Given the description of an element on the screen output the (x, y) to click on. 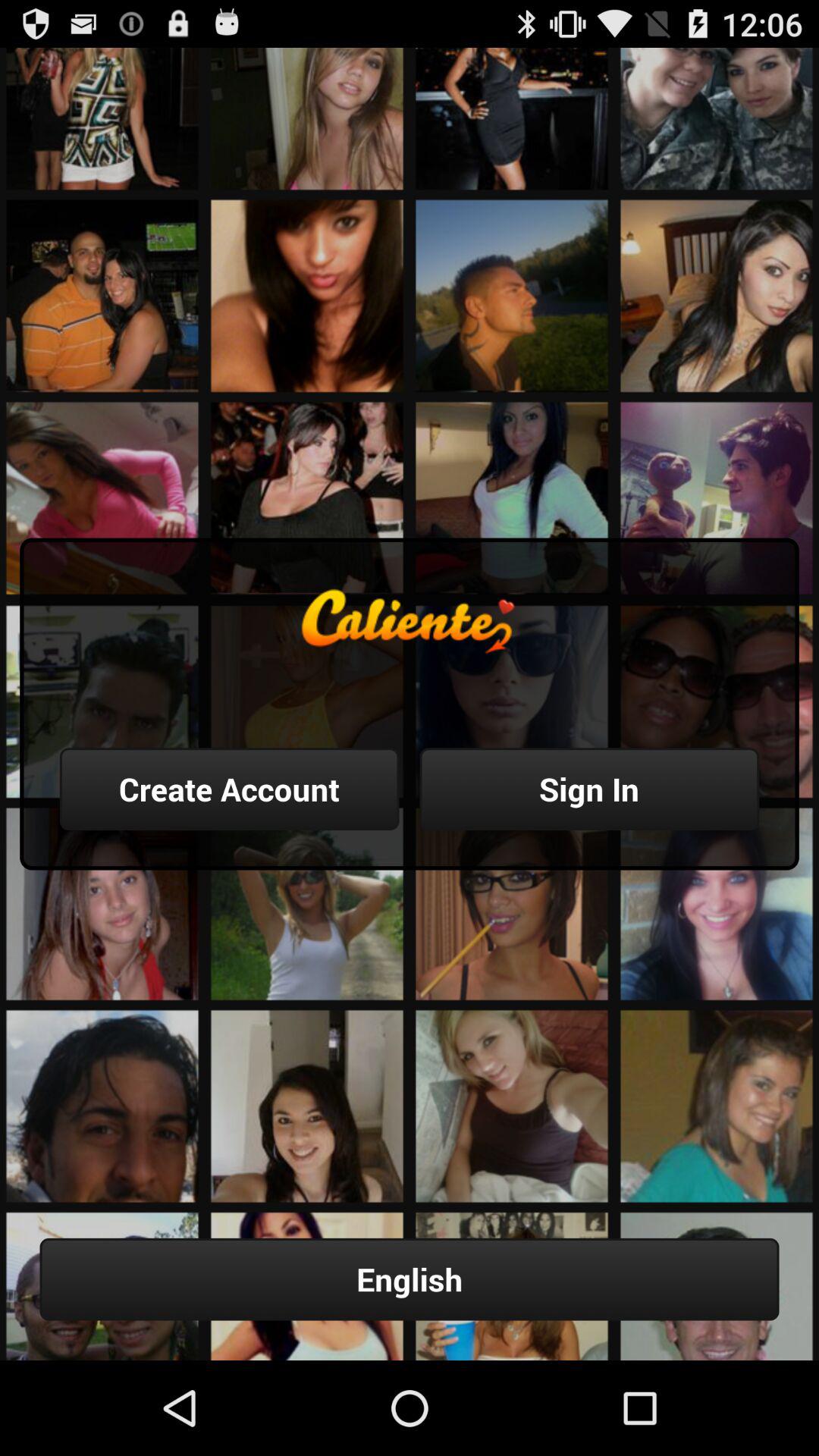
flip to sign in icon (589, 788)
